Given the description of an element on the screen output the (x, y) to click on. 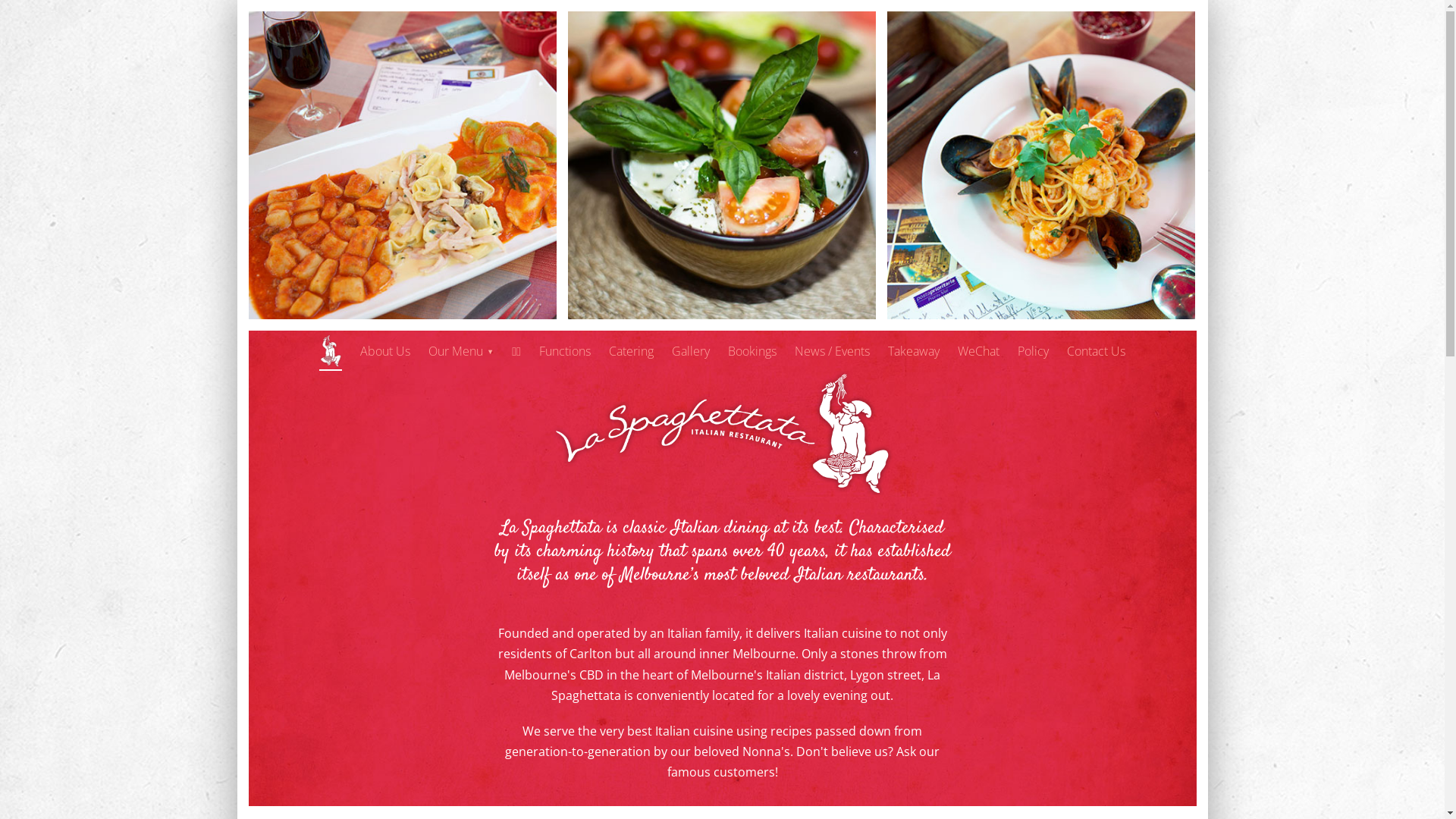
WeChat Element type: text (978, 351)
Policy Element type: text (1032, 351)
Gallery Element type: text (690, 351)
La Spaghettata's Logo Element type: hover (722, 432)
About Us Element type: text (385, 351)
News / Events Element type: text (831, 351)
La Spaghettata's Logo Element type: hover (330, 350)
Takeaway Element type: text (913, 351)
Functions Element type: text (564, 351)
Bookings Element type: text (752, 351)
Catering Element type: text (630, 351)
Contact Us Element type: text (1095, 351)
Home Element type: hover (330, 350)
La Spaghettata's Logo Element type: hover (722, 490)
